Given the description of an element on the screen output the (x, y) to click on. 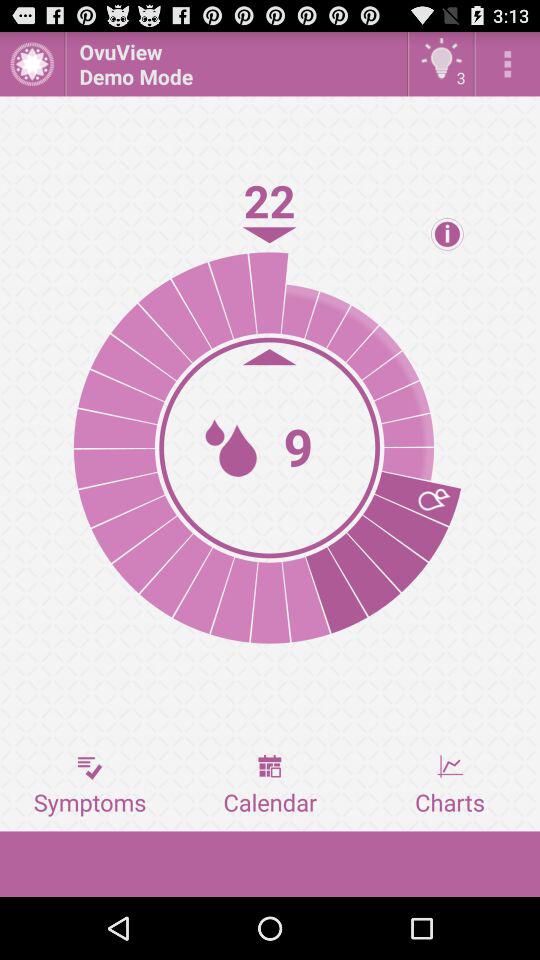
flip until ovuview
demo mode (236, 63)
